Given the description of an element on the screen output the (x, y) to click on. 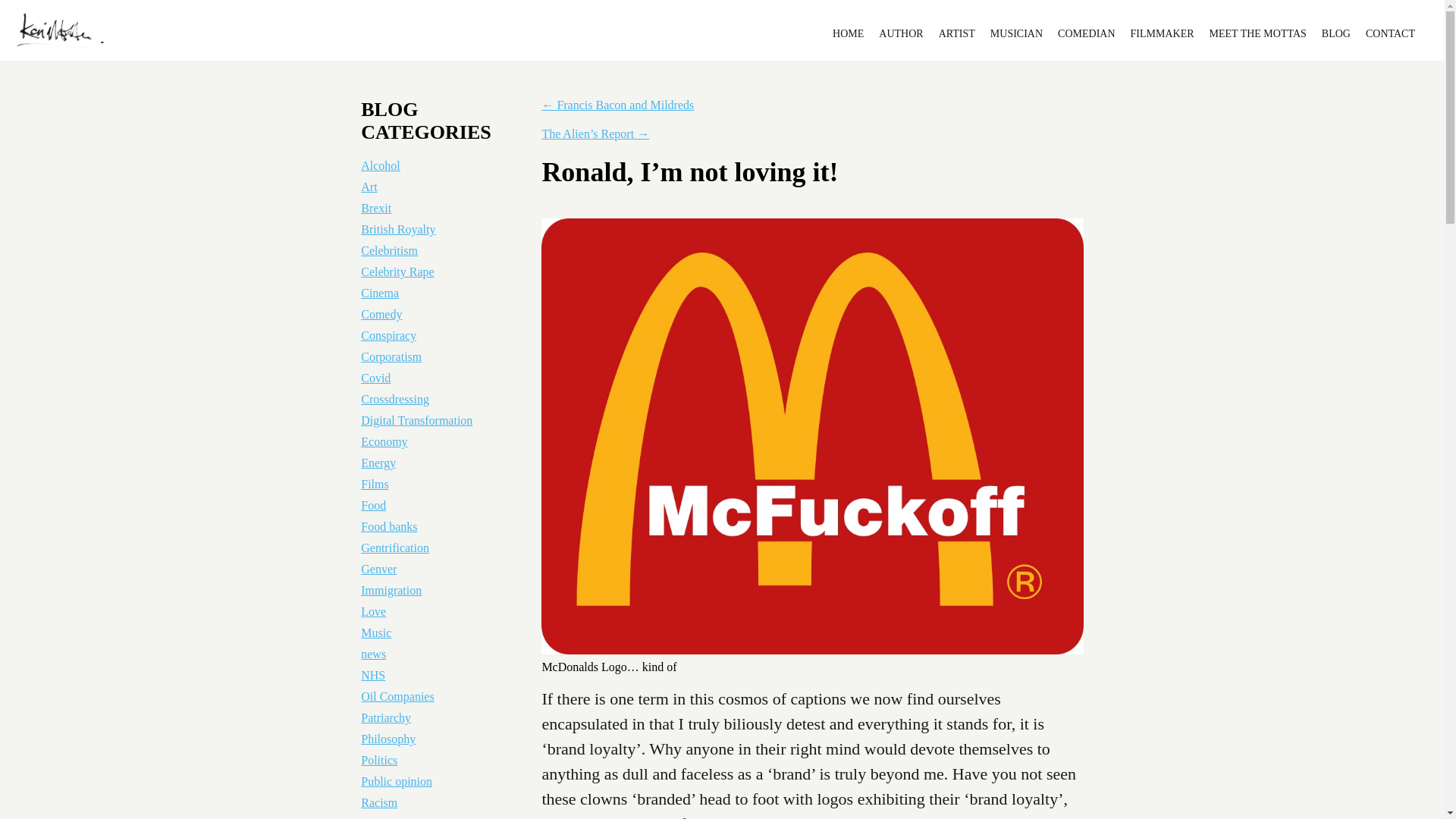
Brexit (376, 207)
AUTHOR (901, 33)
British Royalty (398, 228)
Alcohol (380, 164)
Art (369, 186)
Comedy (381, 314)
Conspiracy (388, 335)
CONTACT (1390, 33)
MEET THE MOTTAS (1257, 33)
Cinema (379, 292)
